Given the description of an element on the screen output the (x, y) to click on. 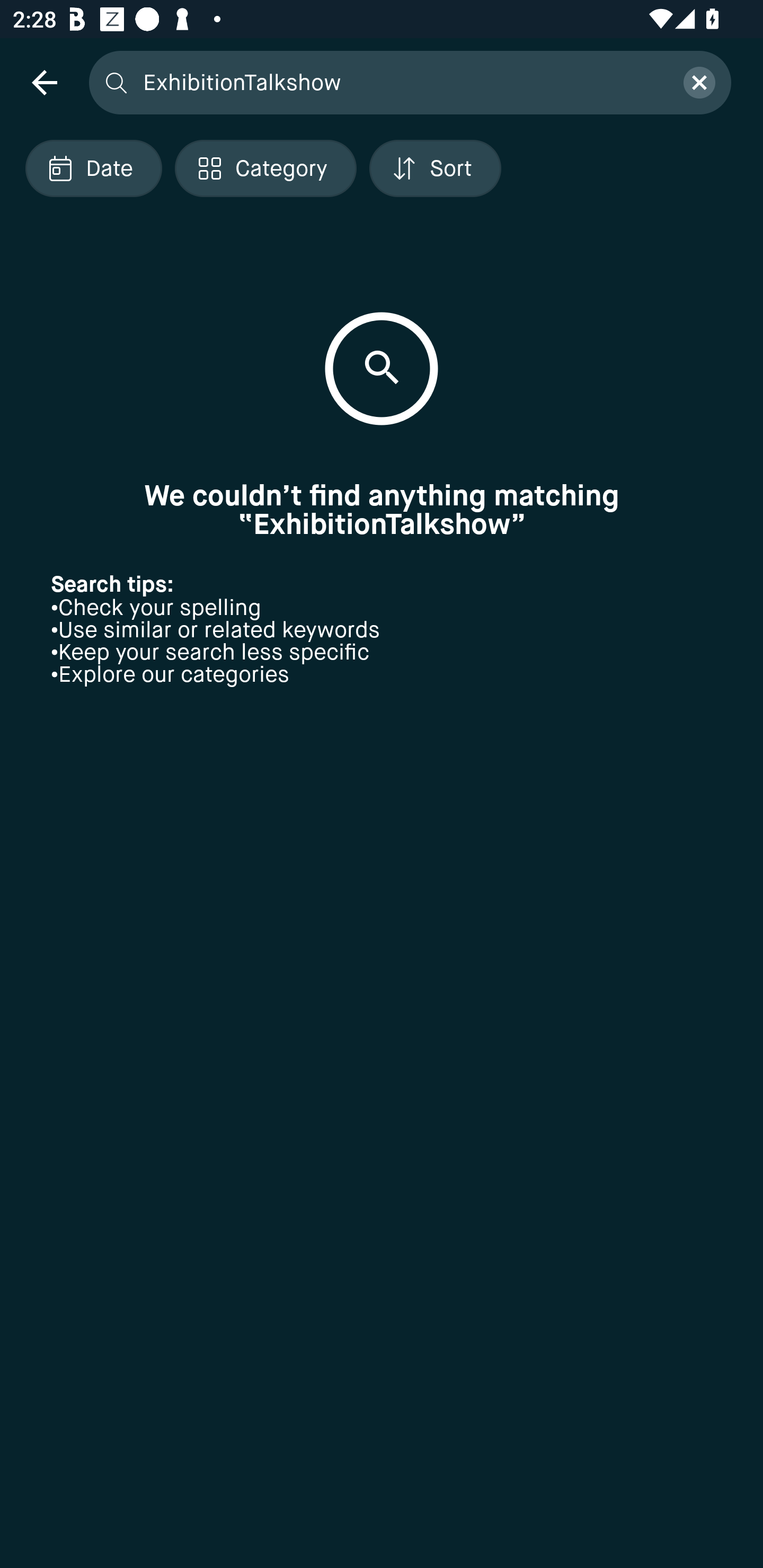
navigation icon (44, 81)
ExhibitionTalkshow (402, 81)
Localized description Date (93, 168)
Localized description Category (265, 168)
Localized description Sort (435, 168)
